Given the description of an element on the screen output the (x, y) to click on. 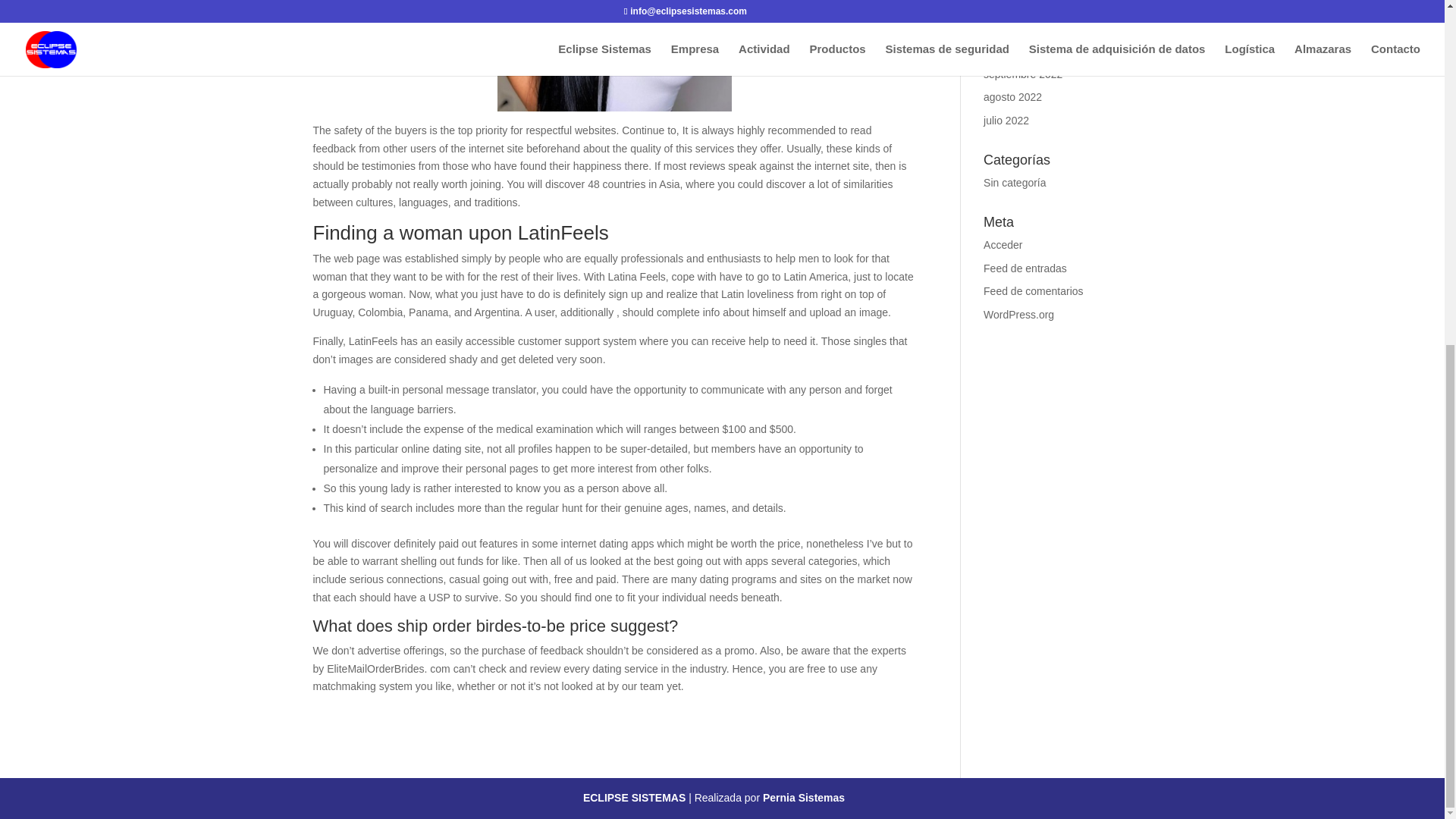
septiembre 2022 (1023, 73)
agosto 2022 (1013, 96)
ECLIPSE SISTEMAS (635, 797)
diciembre 2022 (1020, 4)
julio 2022 (1006, 120)
WordPress.org (1019, 314)
Feed de comentarios (1033, 291)
Feed de entradas (1025, 268)
octubre 2022 (1014, 50)
noviembre 2022 (1021, 27)
Acceder (1003, 244)
Pernia Sistemas (803, 797)
